Given the description of an element on the screen output the (x, y) to click on. 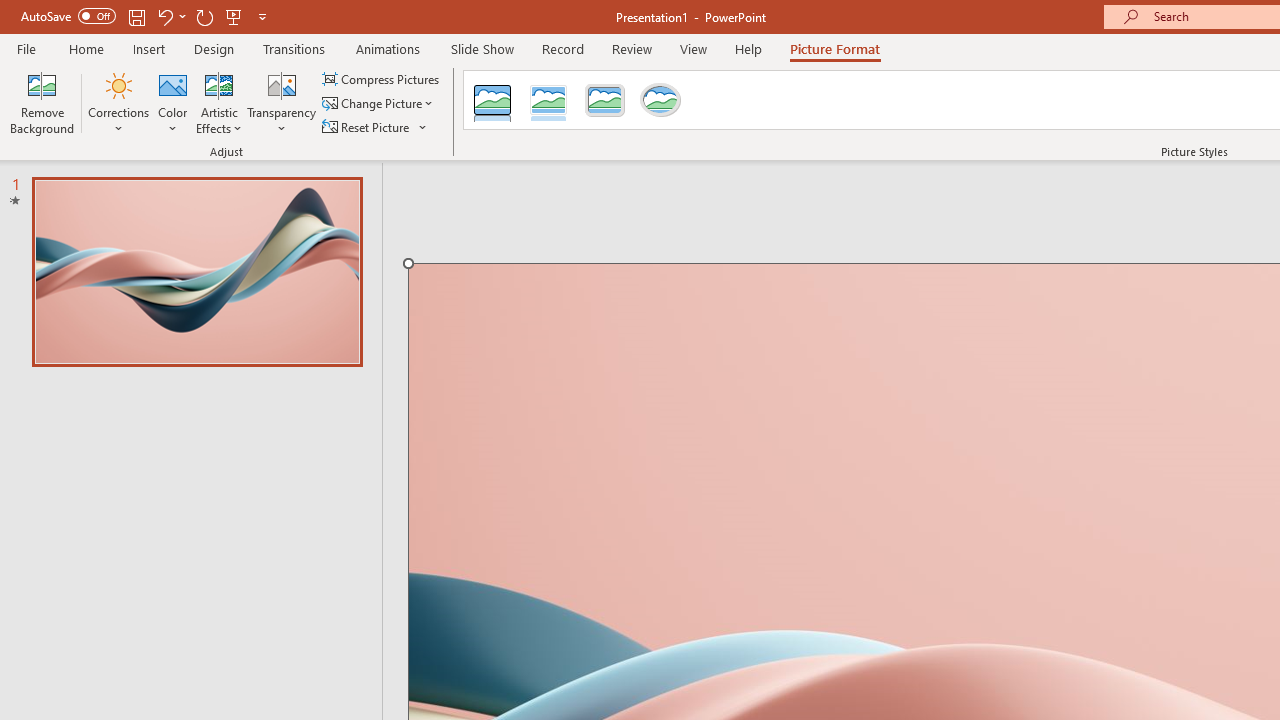
Reset Picture (375, 126)
Compress Pictures... (381, 78)
Color (173, 102)
Reflected Bevel, White (548, 100)
Transparency (281, 102)
